Given the description of an element on the screen output the (x, y) to click on. 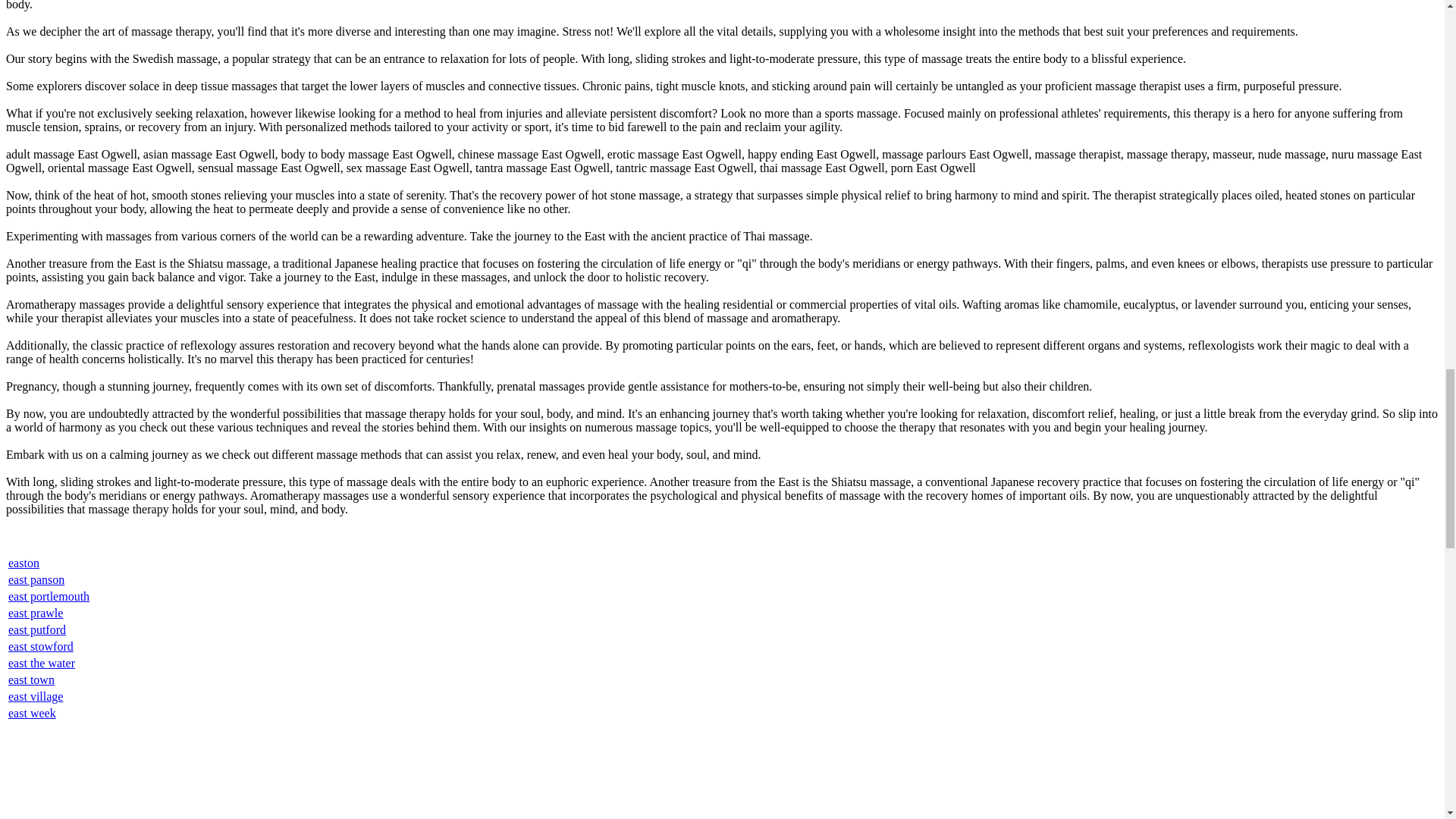
east stowford (41, 645)
east the water (41, 662)
east village (35, 696)
east putford (36, 629)
easton (23, 562)
east prawle (35, 612)
east week (32, 712)
east panson (36, 579)
east portlemouth (48, 595)
east town (31, 679)
